Given the description of an element on the screen output the (x, y) to click on. 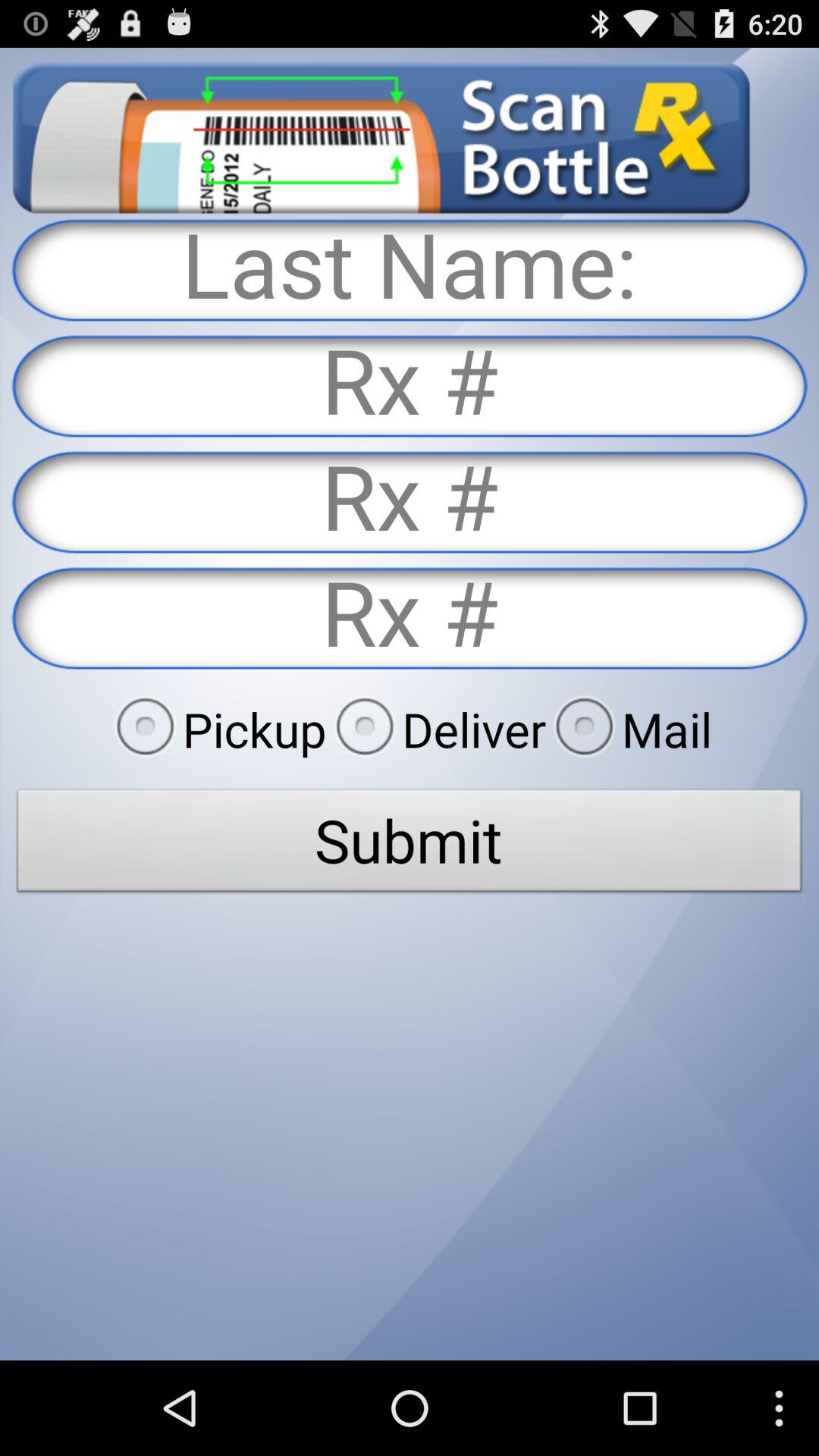
choose icon next to mail (436, 728)
